Given the description of an element on the screen output the (x, y) to click on. 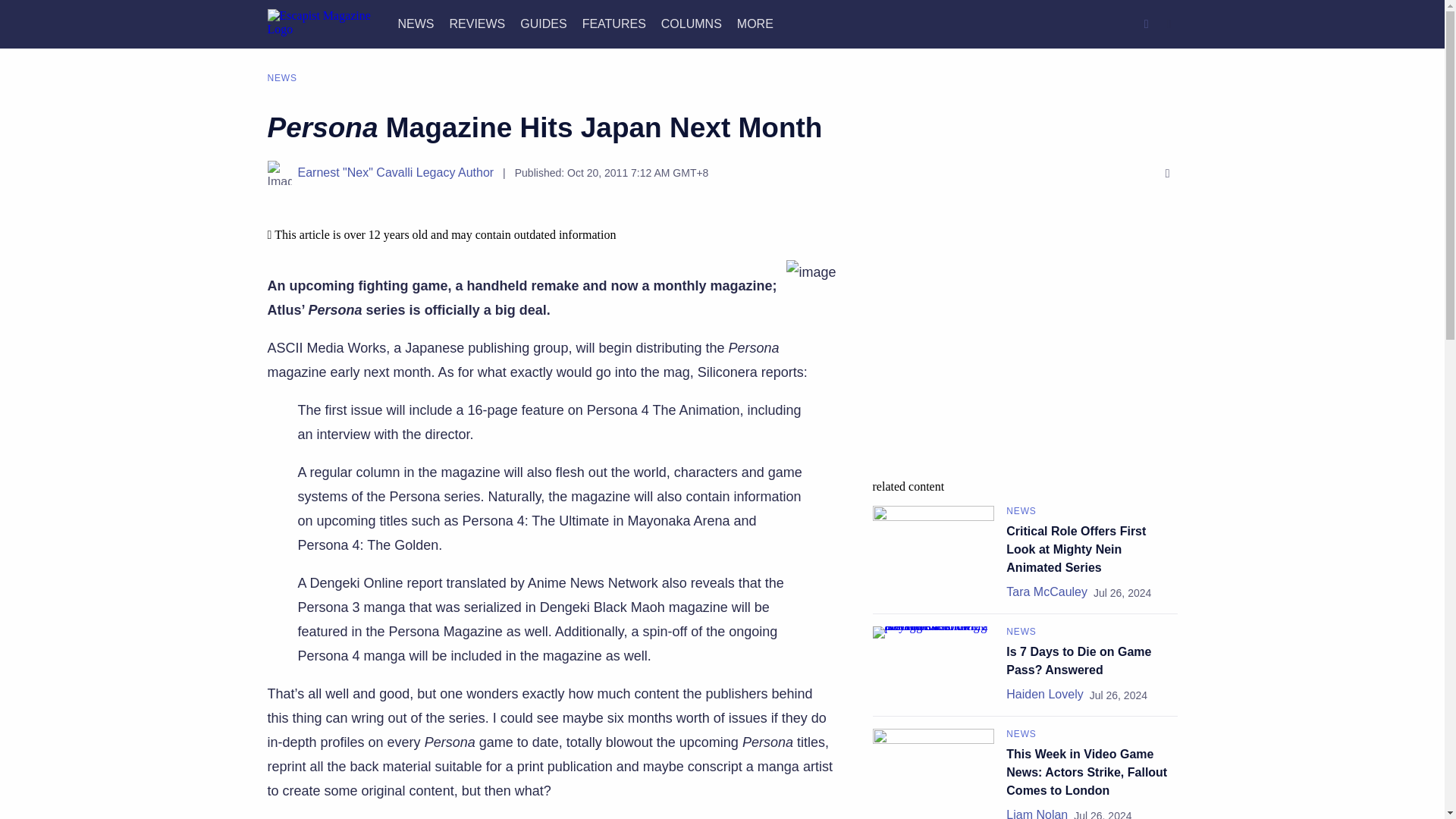
REVIEWS (476, 23)
NEWS (415, 23)
FEATURES (614, 23)
GUIDES (542, 23)
COLUMNS (691, 23)
